Given the description of an element on the screen output the (x, y) to click on. 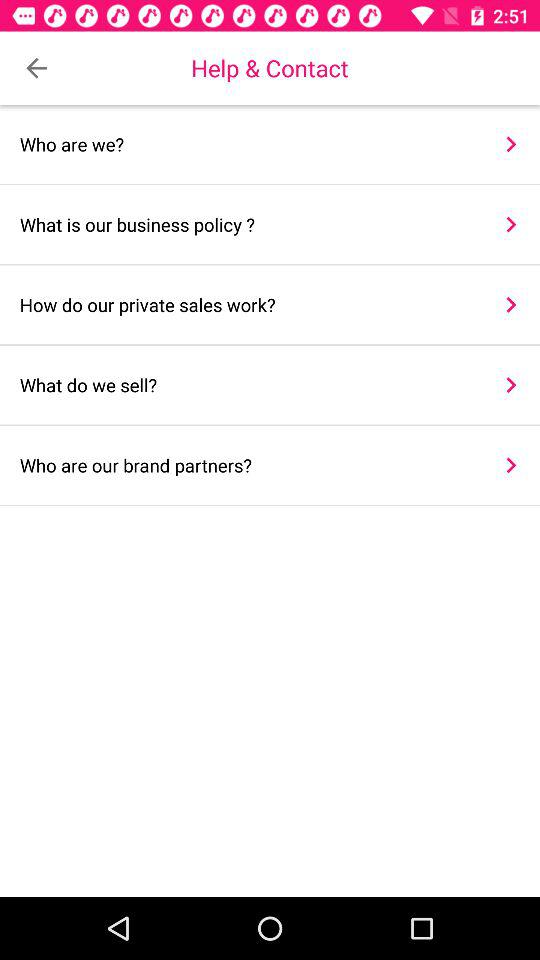
select the item next to the what do we (510, 384)
